Given the description of an element on the screen output the (x, y) to click on. 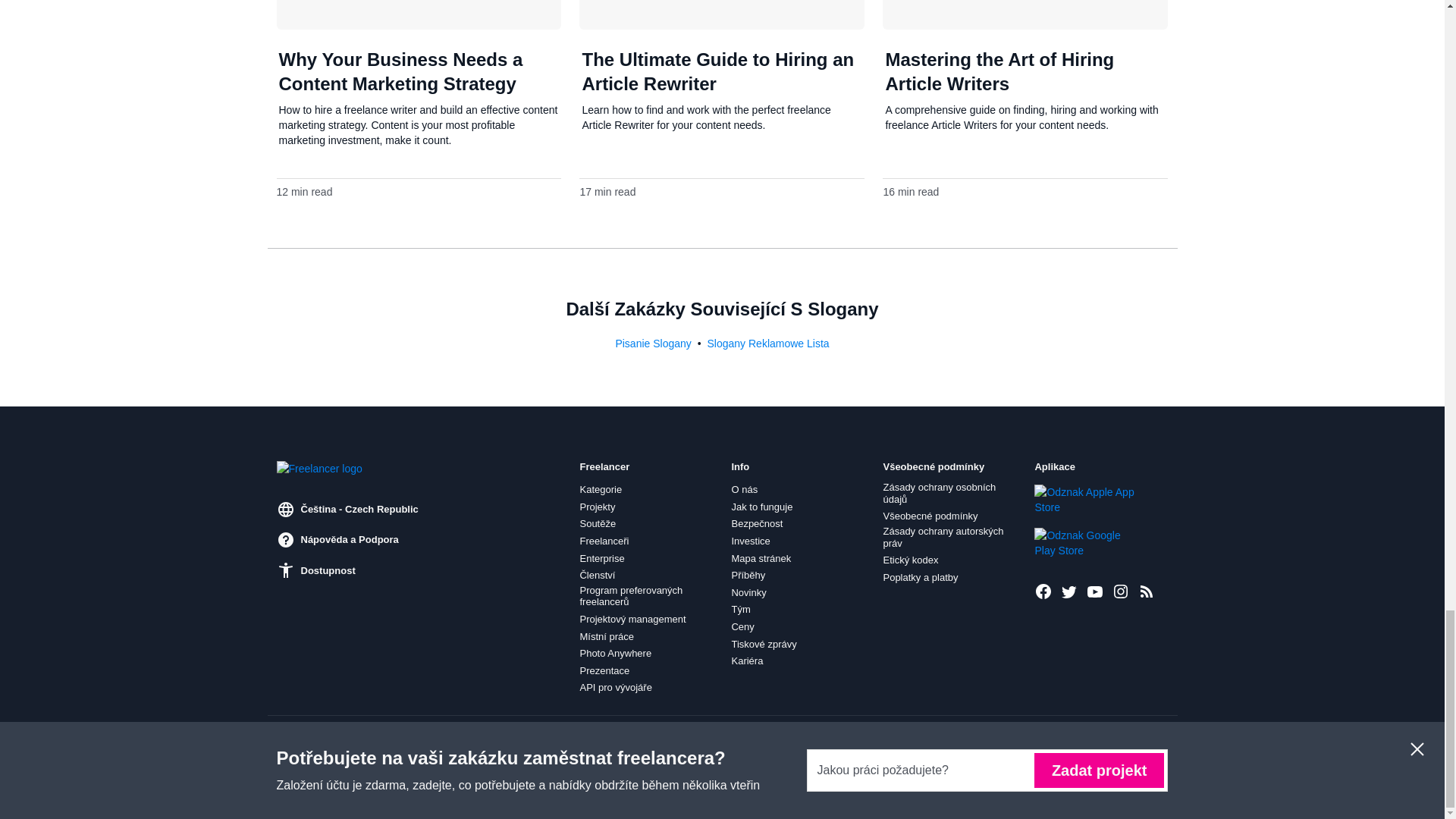
Freelancer na Youtube (1094, 591)
Freelancer na Instagramu (1120, 591)
Freelancer na Facebooku (1042, 591)
Freelancer na Twitteru (1068, 591)
